Given the description of an element on the screen output the (x, y) to click on. 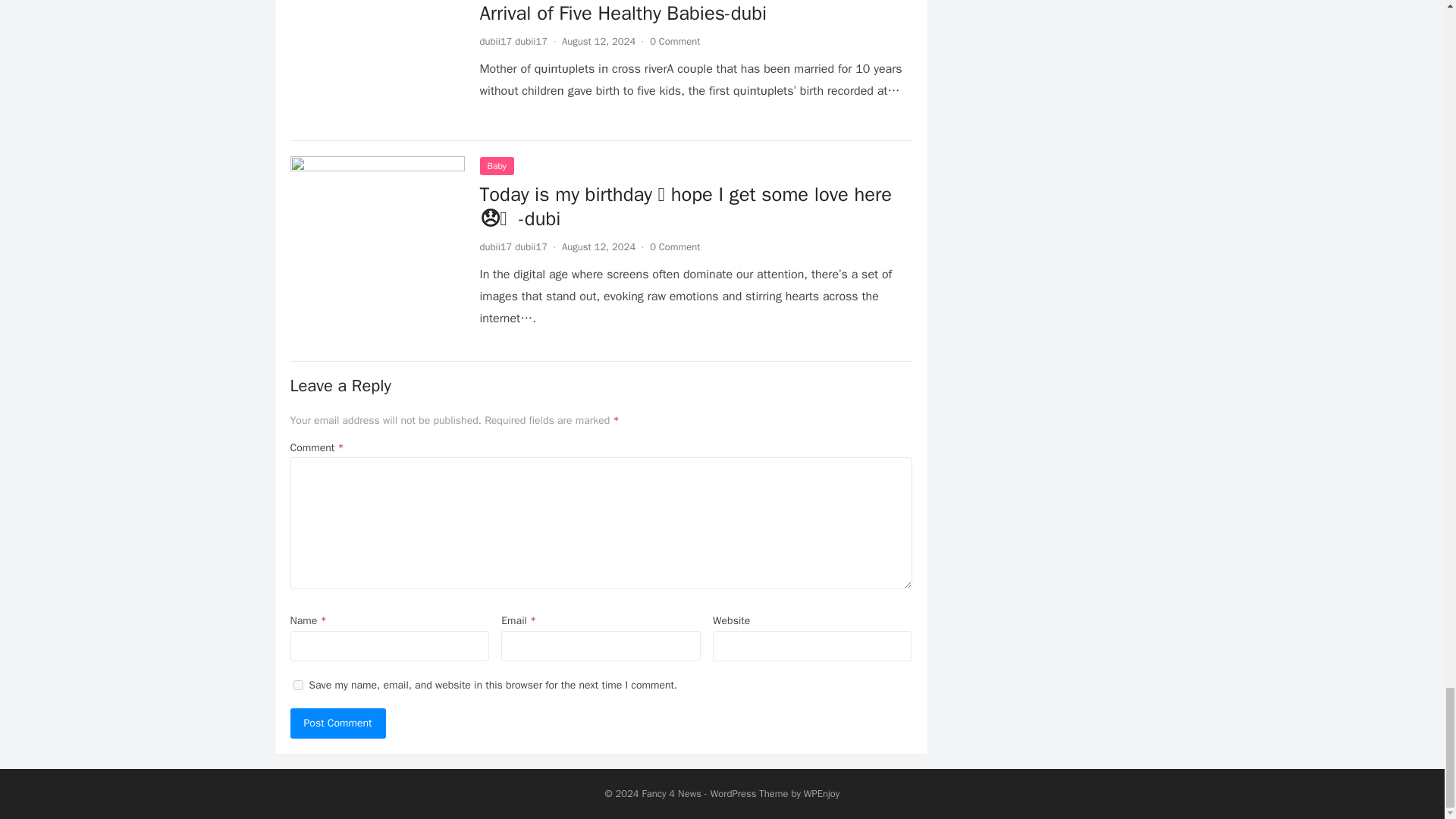
yes (297, 685)
Post Comment (337, 723)
Posts by dubii17 dubii17 (513, 41)
Posts by dubii17 dubii17 (513, 246)
